Given the description of an element on the screen output the (x, y) to click on. 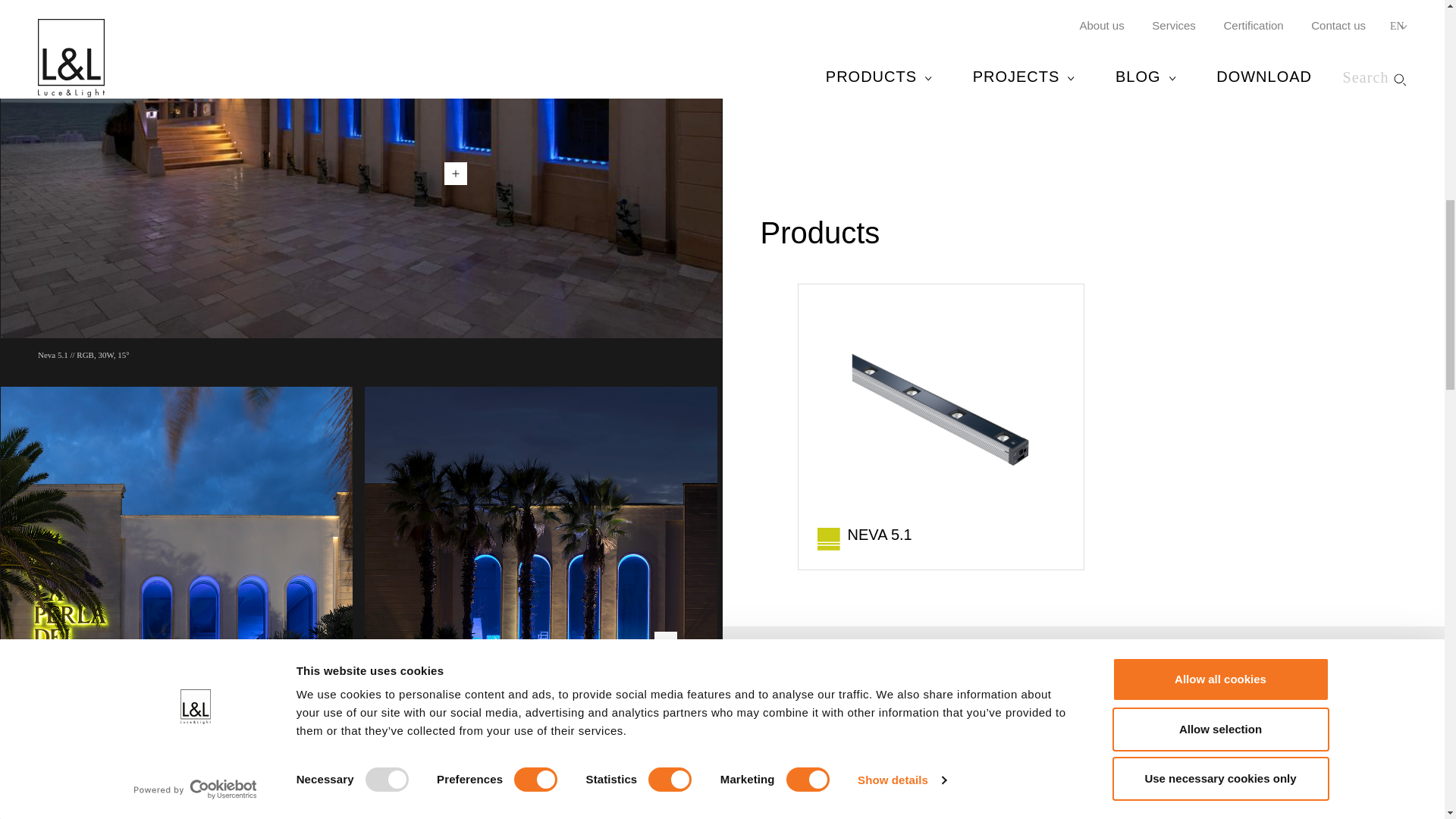
Neva 5.1 (455, 173)
